Given the description of an element on the screen output the (x, y) to click on. 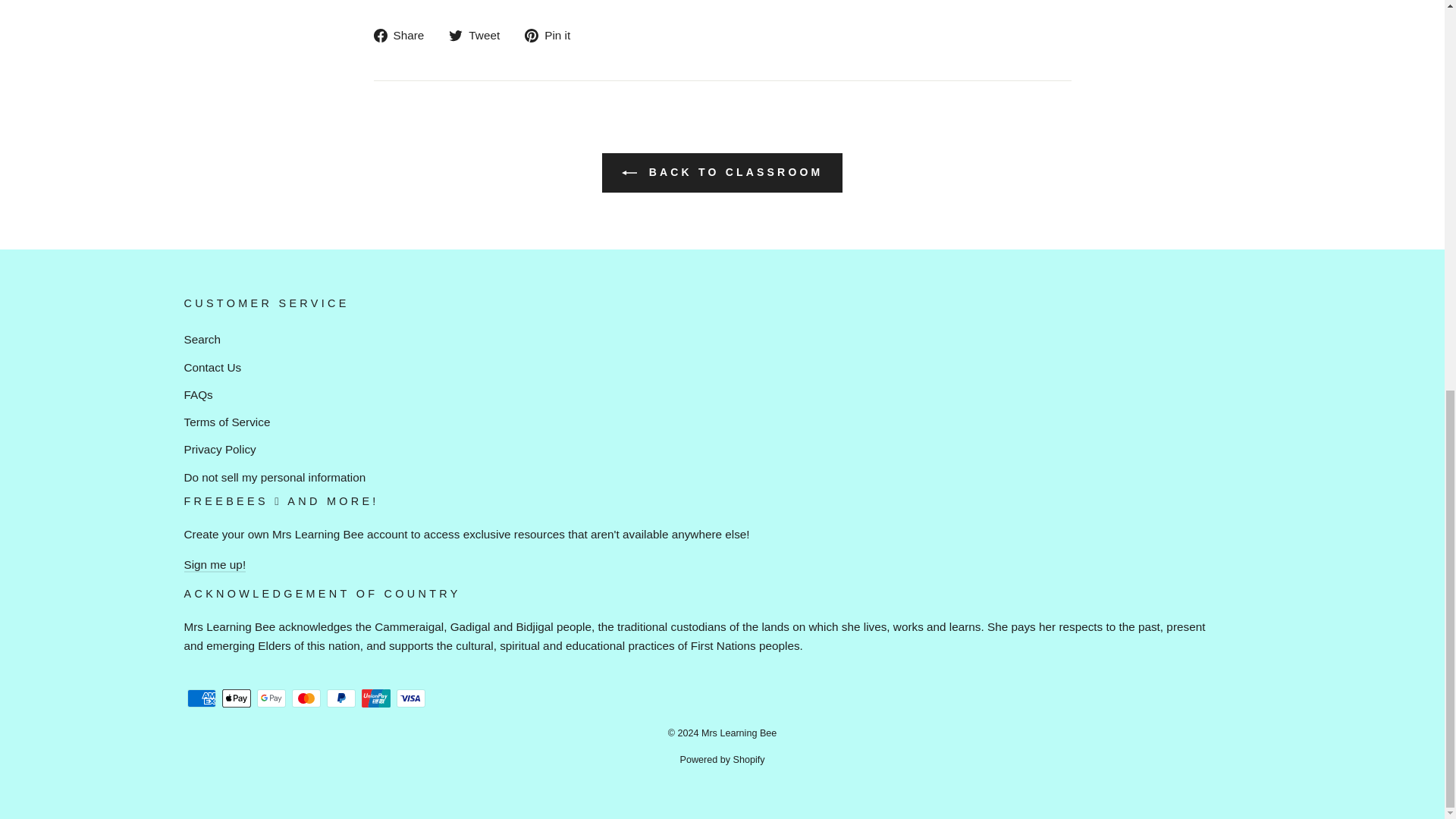
American Express (200, 698)
Create a new Miss Learning Bee account! (214, 564)
Tweet on Twitter (479, 34)
PayPal (340, 698)
Visa (410, 698)
Mastercard (305, 698)
Union Pay (375, 698)
Google Pay (270, 698)
Share on Facebook (403, 34)
Pin on Pinterest (552, 34)
